Given the description of an element on the screen output the (x, y) to click on. 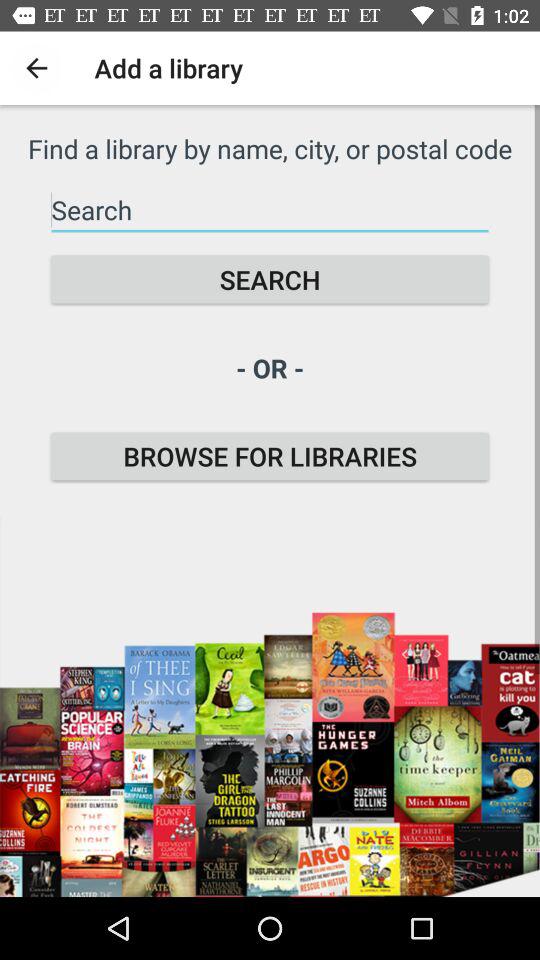
jump to the browse for libraries (269, 455)
